Given the description of an element on the screen output the (x, y) to click on. 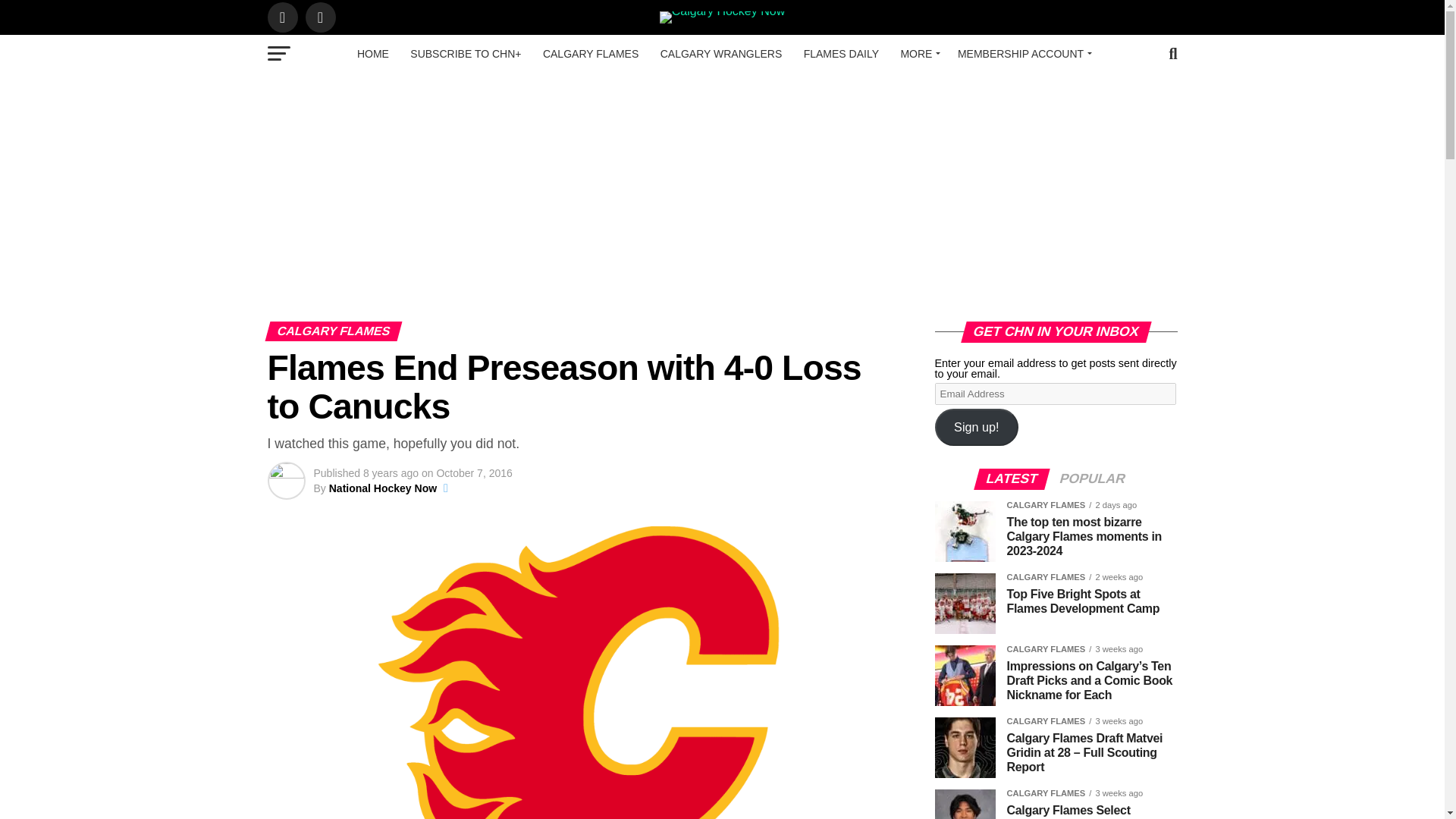
Posts by National Hockey Now (382, 488)
